Given the description of an element on the screen output the (x, y) to click on. 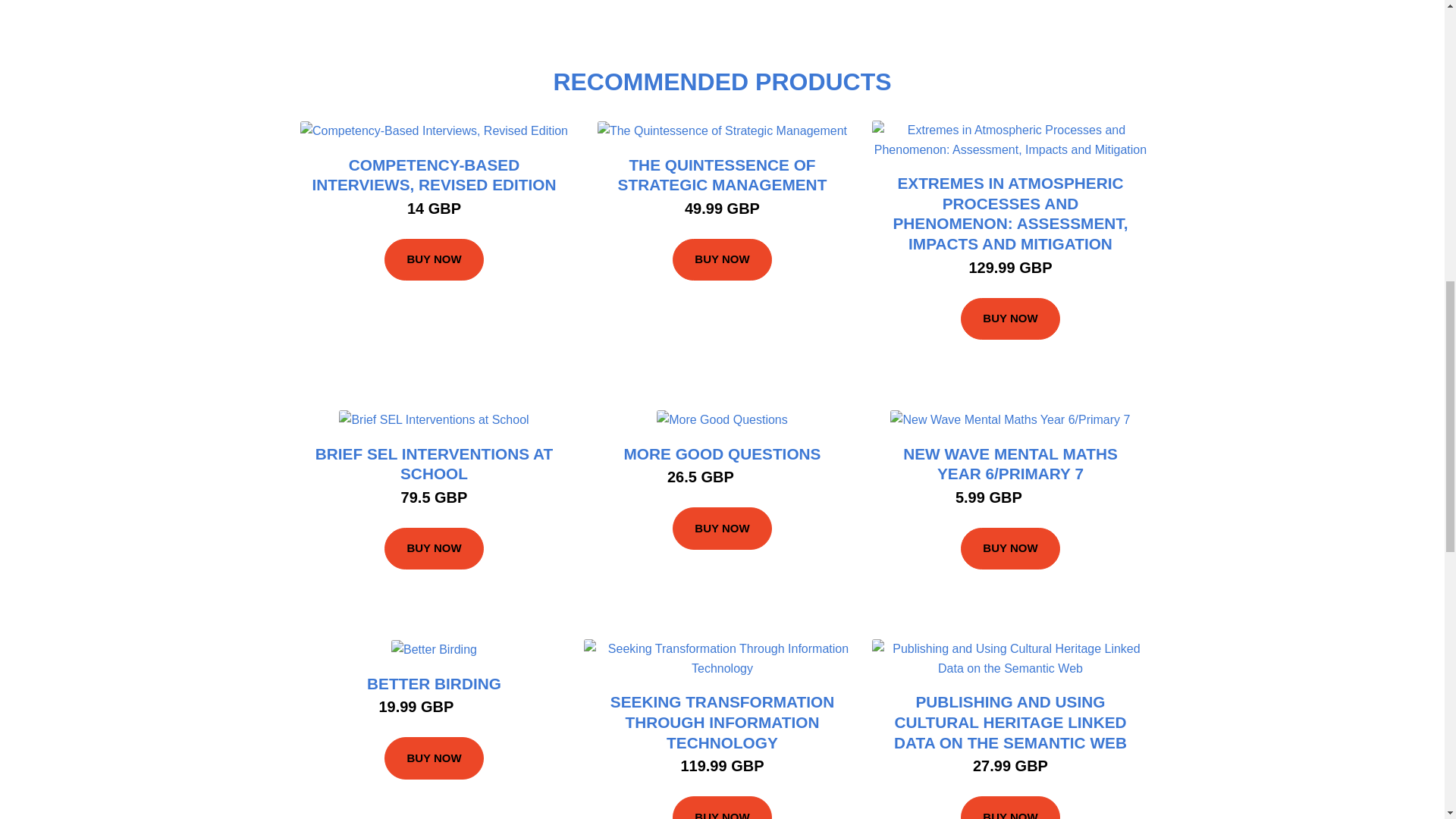
BUY NOW (433, 260)
BUY NOW (1009, 318)
BUY NOW (433, 548)
THE QUINTESSENCE OF STRATEGIC MANAGEMENT (722, 175)
BRIEF SEL INTERVENTIONS AT SCHOOL (434, 464)
BUY NOW (721, 260)
BUY NOW (721, 527)
BUY NOW (1009, 548)
MORE GOOD QUESTIONS (722, 453)
